Given the description of an element on the screen output the (x, y) to click on. 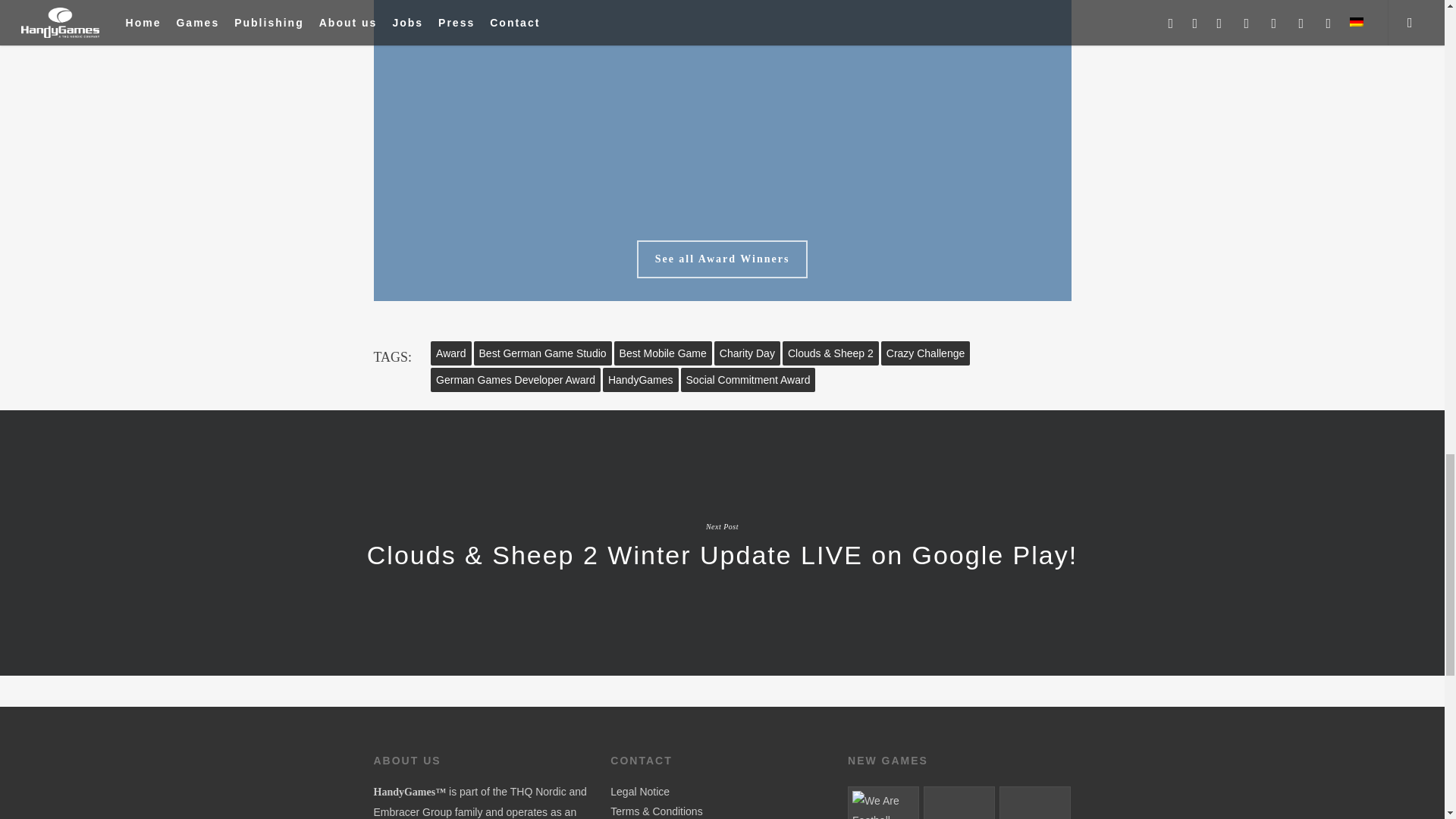
Oddsparks (1034, 802)
We Are Football 2024 (882, 802)
SpongeBob SquarePants: The Cosmic Shake (958, 802)
See all Award Winners (722, 259)
